Given the description of an element on the screen output the (x, y) to click on. 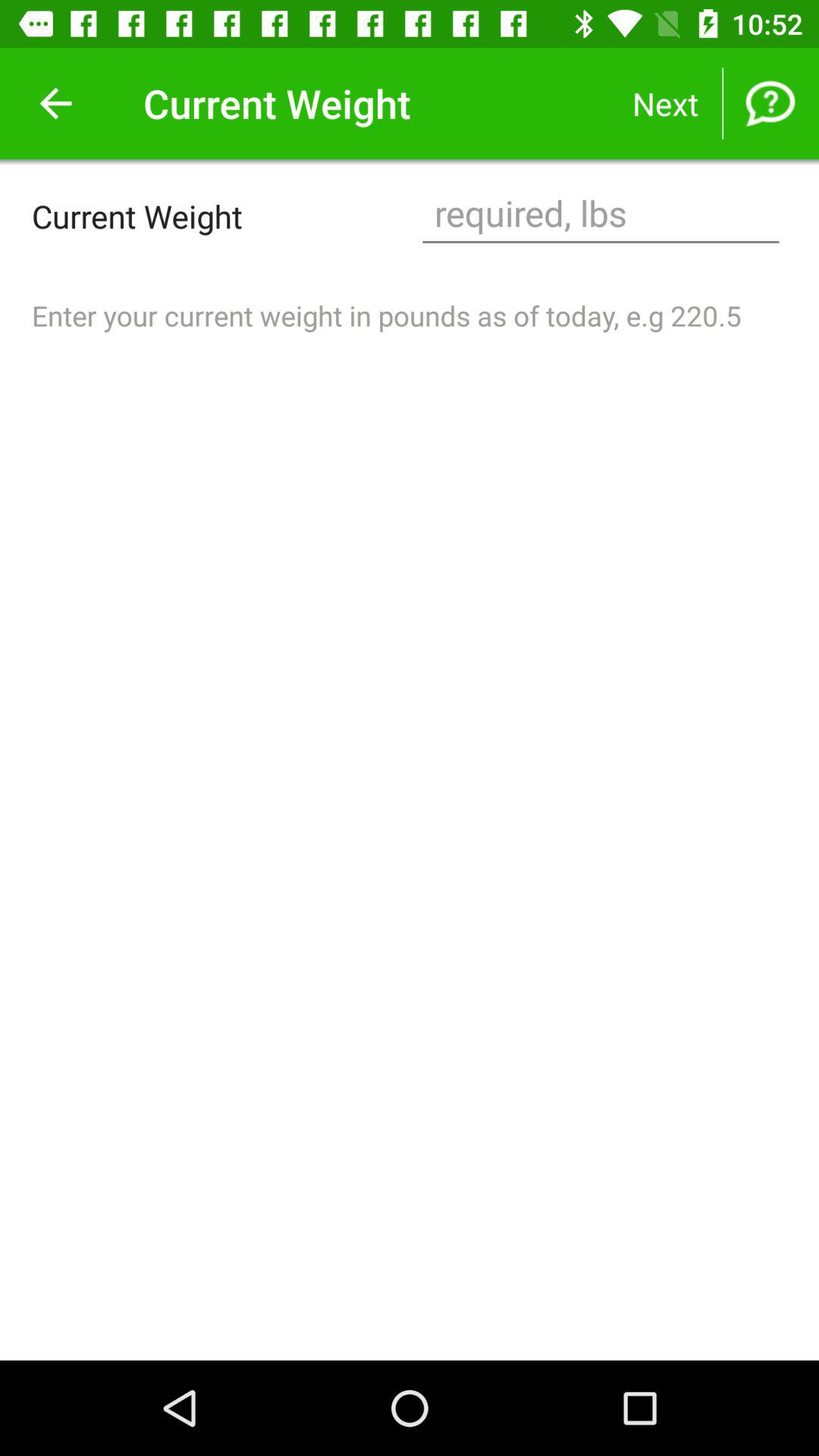
enter current weight (600, 215)
